Given the description of an element on the screen output the (x, y) to click on. 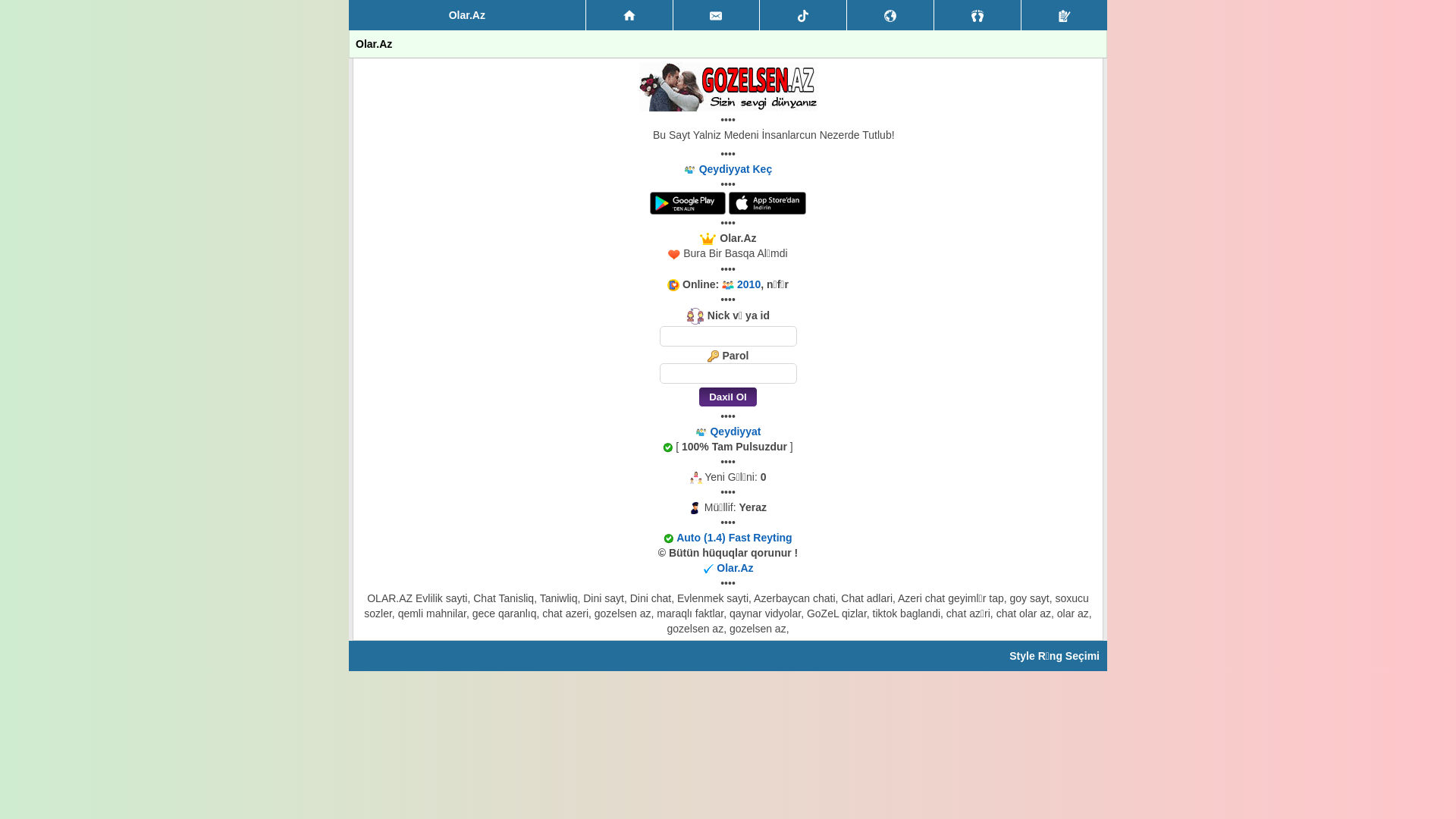
Qeydiyyat Element type: hover (1064, 15)
nick Element type: hover (728, 336)
Daxil Ol Element type: text (727, 396)
Parol Element type: hover (728, 373)
2010 Element type: text (748, 284)
Mesajlar Element type: hover (716, 15)
Tiktok Element type: hover (802, 15)
Qeydiyyat Element type: text (734, 431)
Qonaqlar Element type: hover (977, 15)
Auto (1.4) Fast Reyting Element type: text (733, 537)
Bildirisler Element type: hover (890, 15)
Olar.Az Element type: text (734, 567)
